Given the description of an element on the screen output the (x, y) to click on. 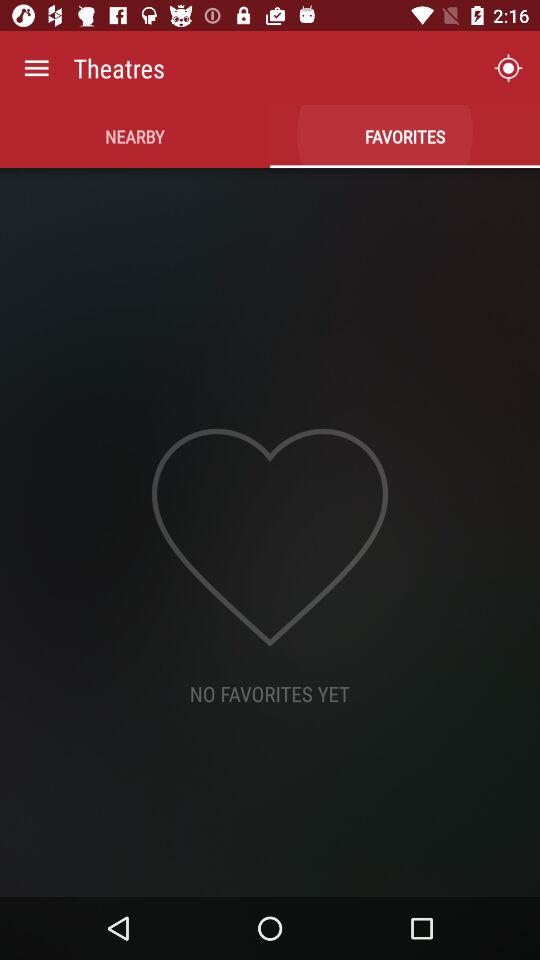
press item next to the theatres icon (36, 68)
